Given the description of an element on the screen output the (x, y) to click on. 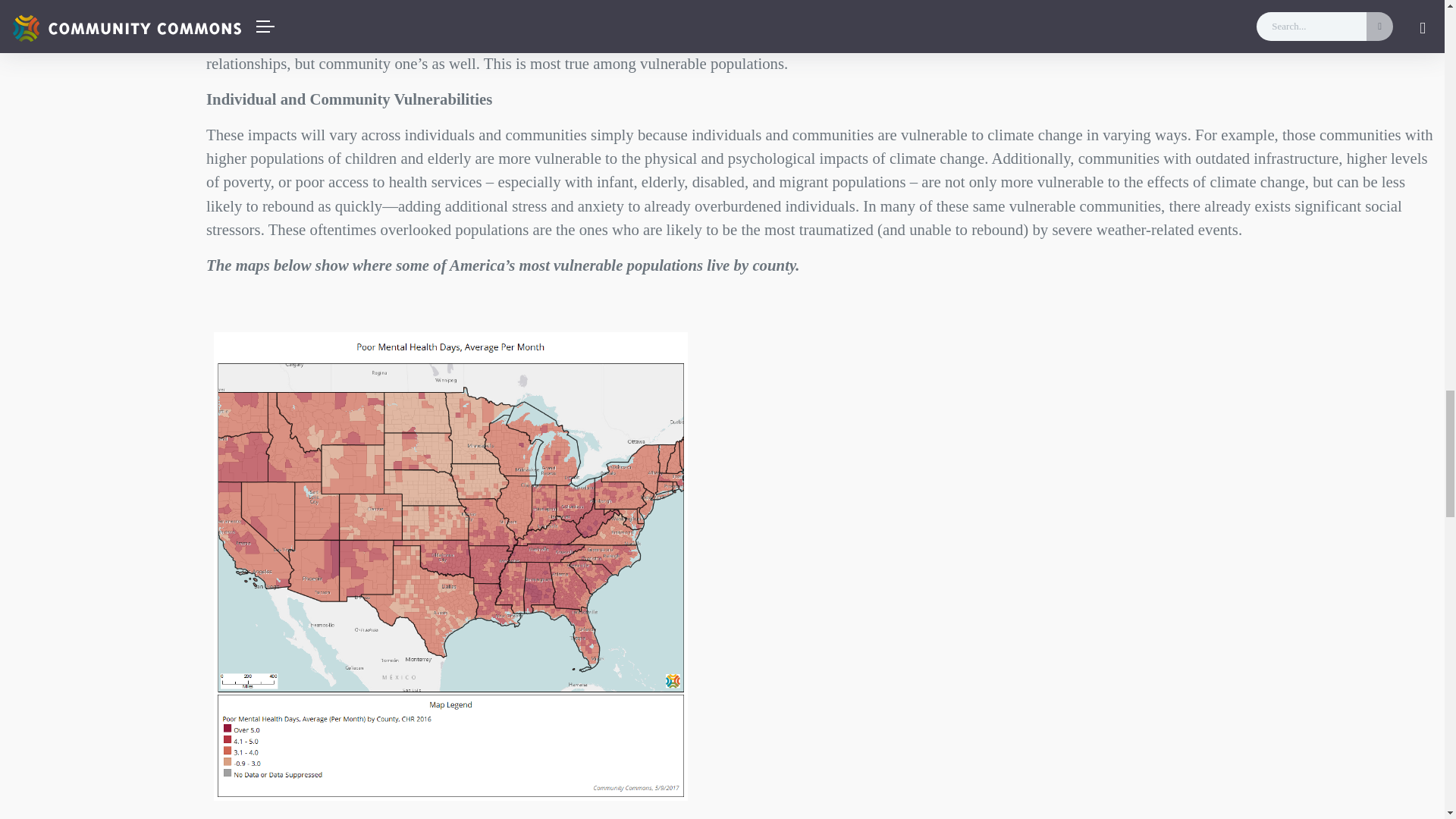
increase in domestic violence (545, 6)
